Given the description of an element on the screen output the (x, y) to click on. 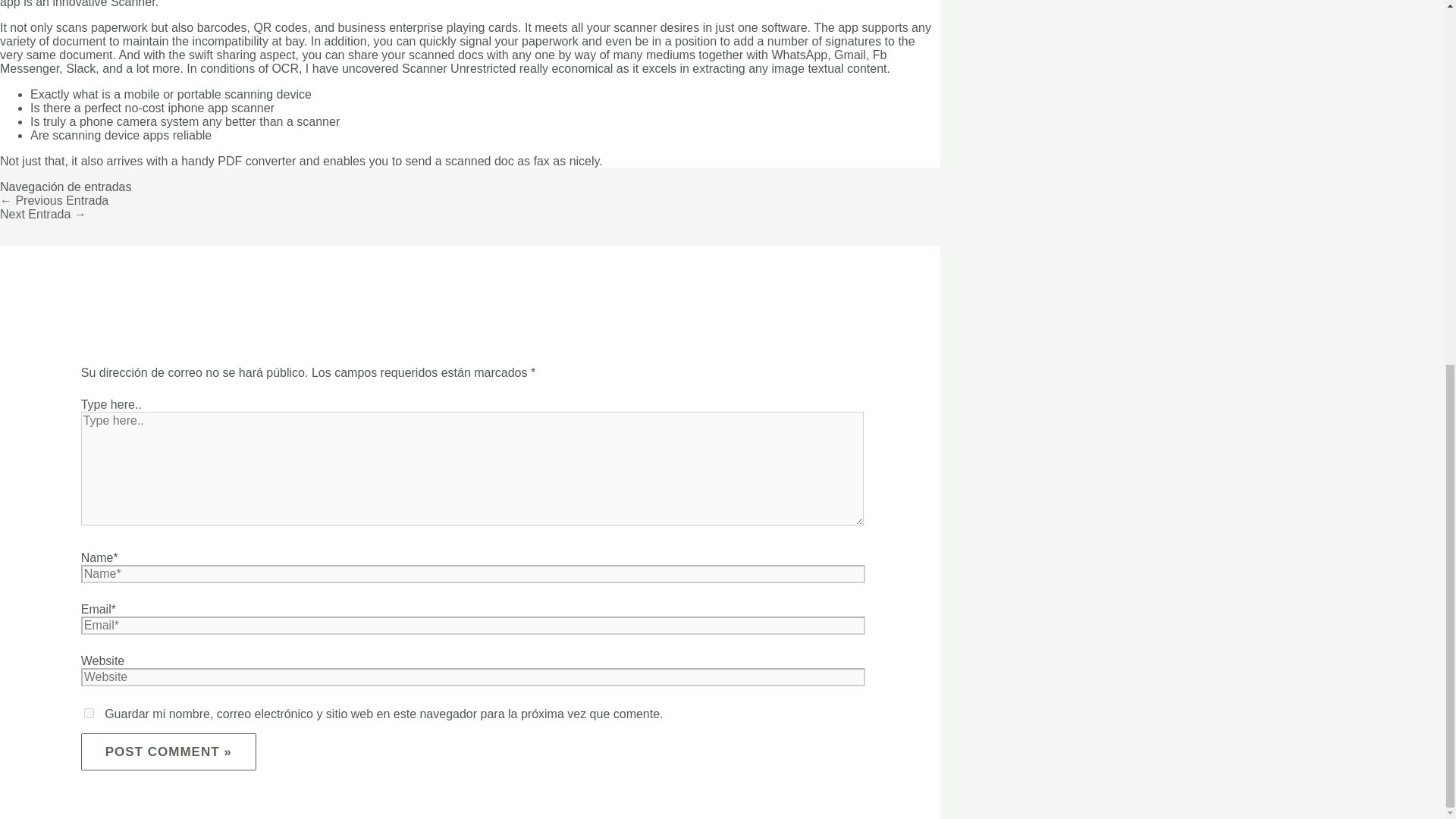
yes (89, 713)
